Given the description of an element on the screen output the (x, y) to click on. 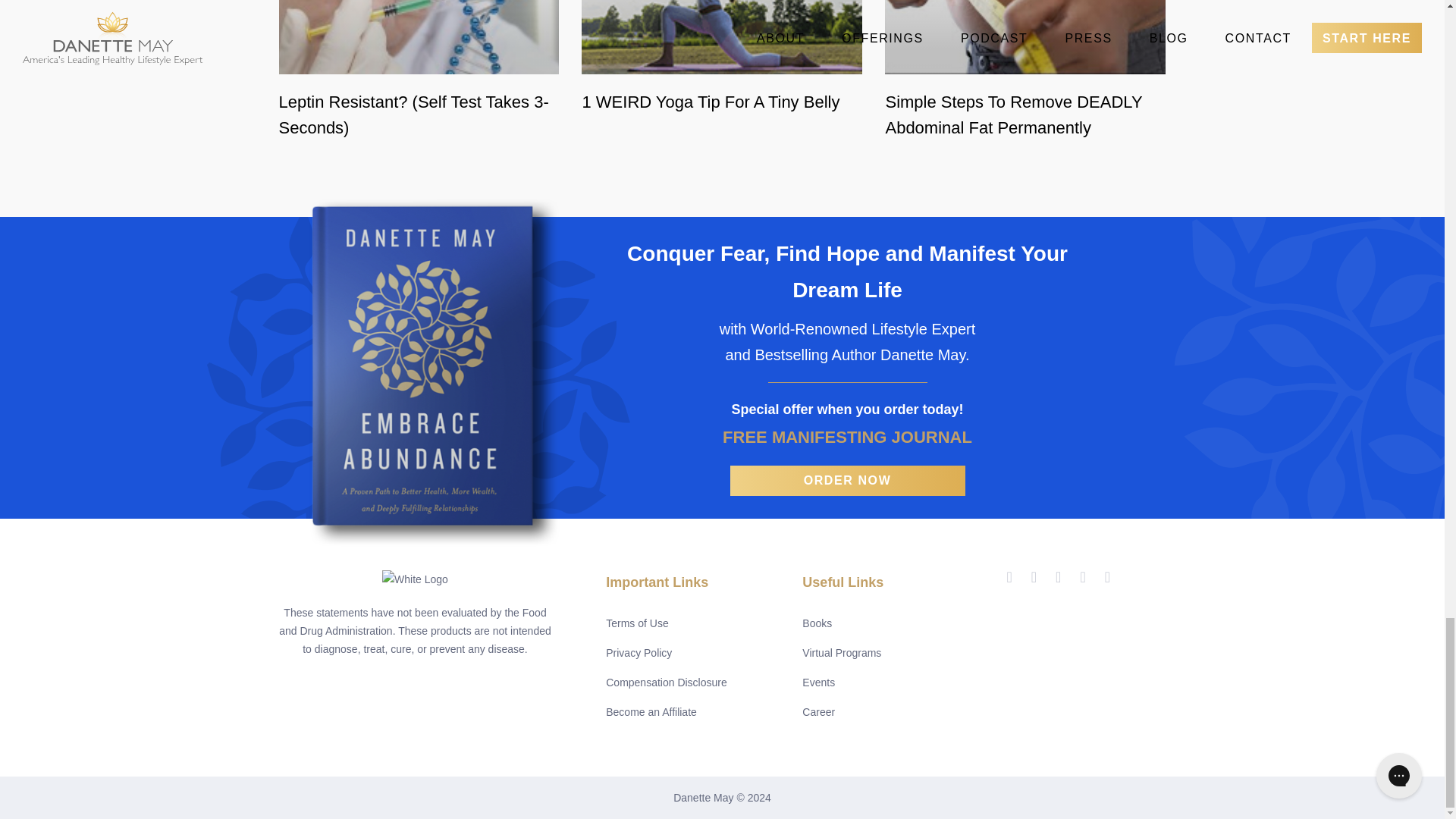
Simple Steps To Remove DEADLY Abdominal Fat Permanently (1025, 114)
1 WEIRD Yoga Tip For A Tiny Belly (720, 101)
Privacy Policy (638, 652)
Terms of Use (636, 622)
ORDER NOW (846, 480)
